Given the description of an element on the screen output the (x, y) to click on. 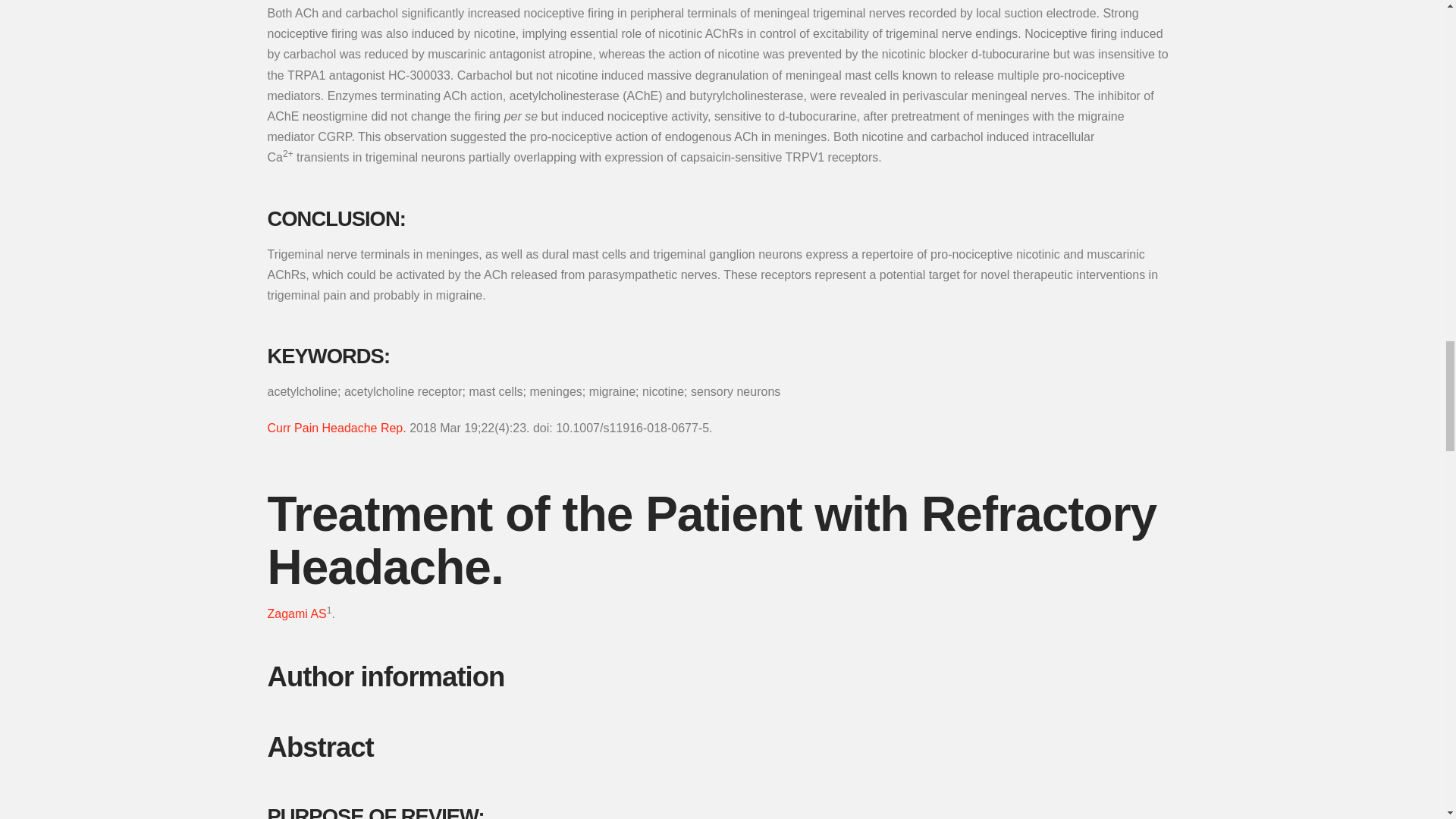
Current pain and headache reports. (336, 427)
